Given the description of an element on the screen output the (x, y) to click on. 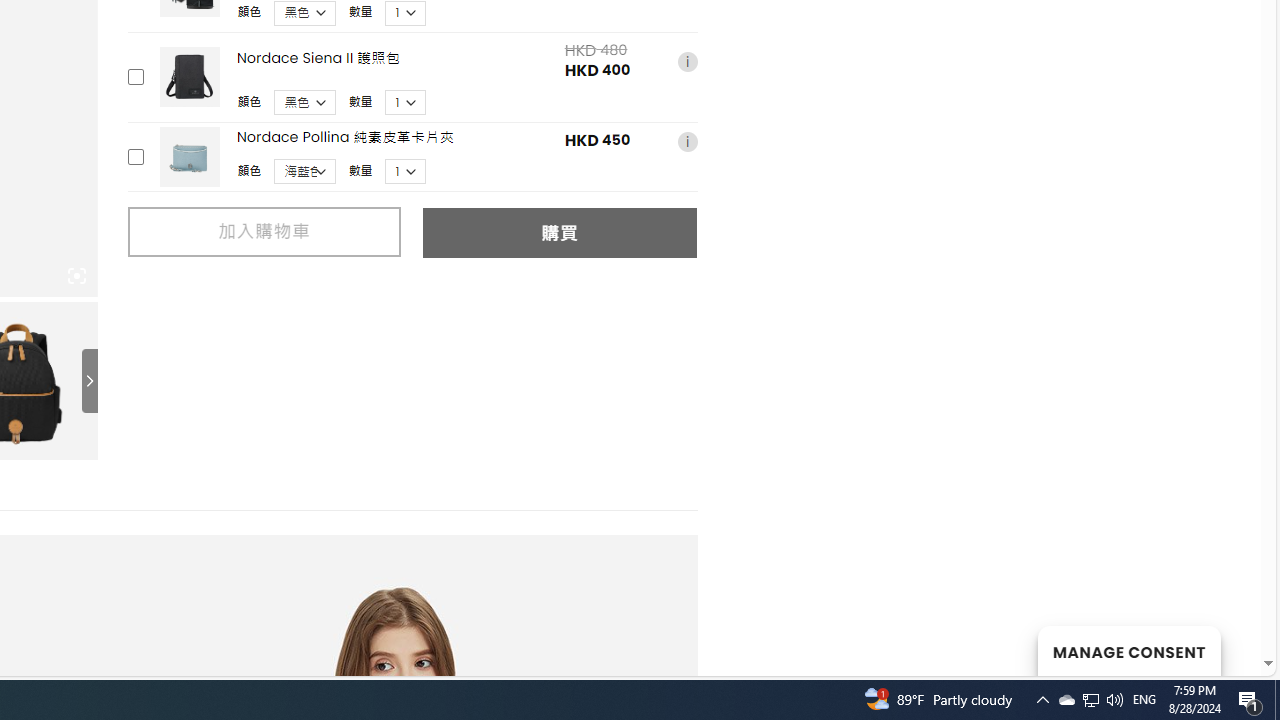
Class: iconic-woothumbs-fullscreen (75, 276)
MANAGE CONSENT (1128, 650)
Class: upsell-v2-product-upsell-variable-product-qty-select (406, 172)
i (687, 141)
Add this product to cart (134, 156)
